Given the description of an element on the screen output the (x, y) to click on. 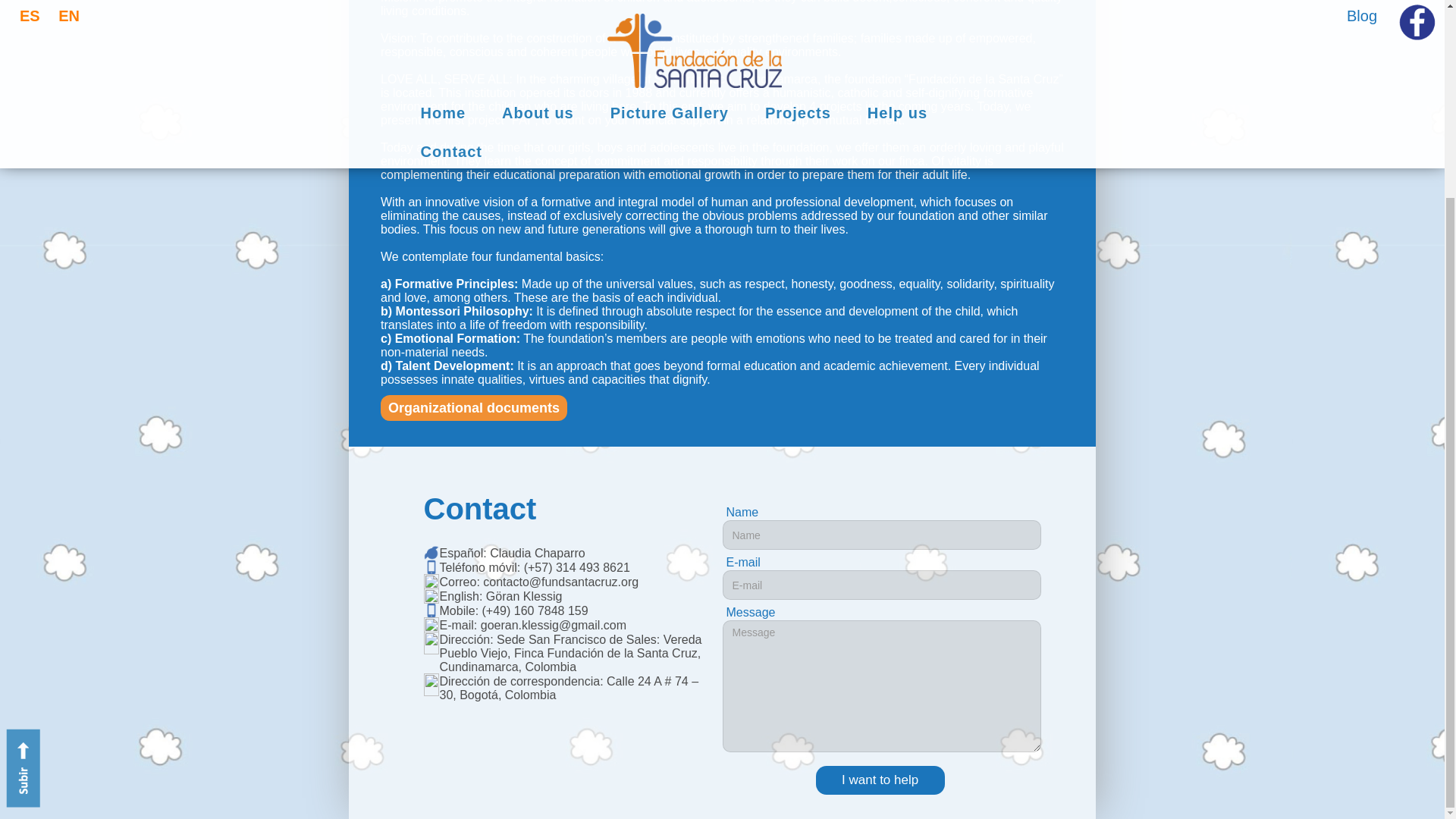
I want to help (879, 779)
Organizational documents (473, 407)
